Given the description of an element on the screen output the (x, y) to click on. 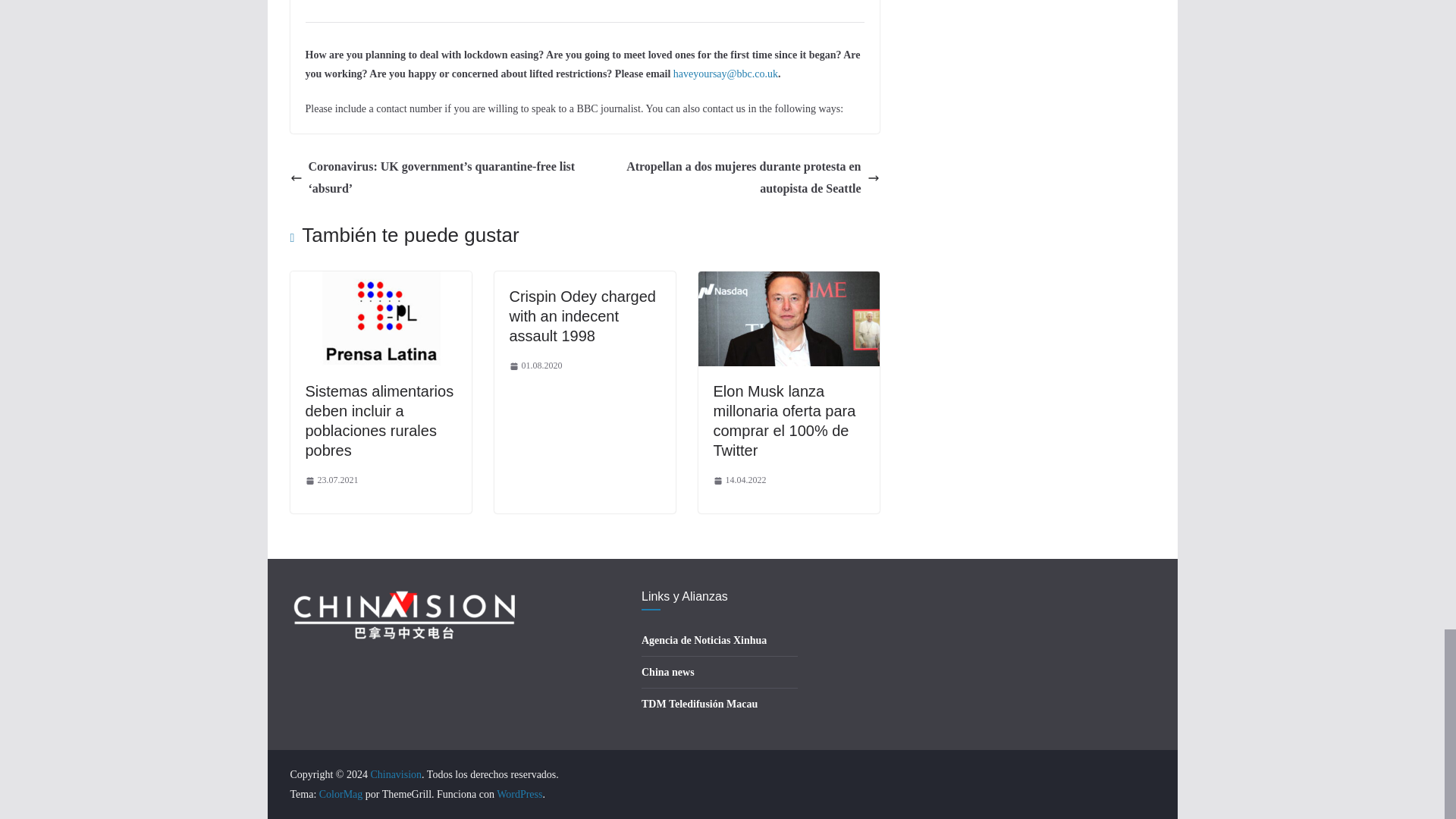
14.04.2022 (739, 480)
8:16 pm (331, 480)
Crispin Odey charged with an indecent assault 1998 (582, 315)
1:31 am (535, 365)
Crispin Odey charged with an indecent assault 1998 (582, 315)
23.07.2021 (331, 480)
